Given the description of an element on the screen output the (x, y) to click on. 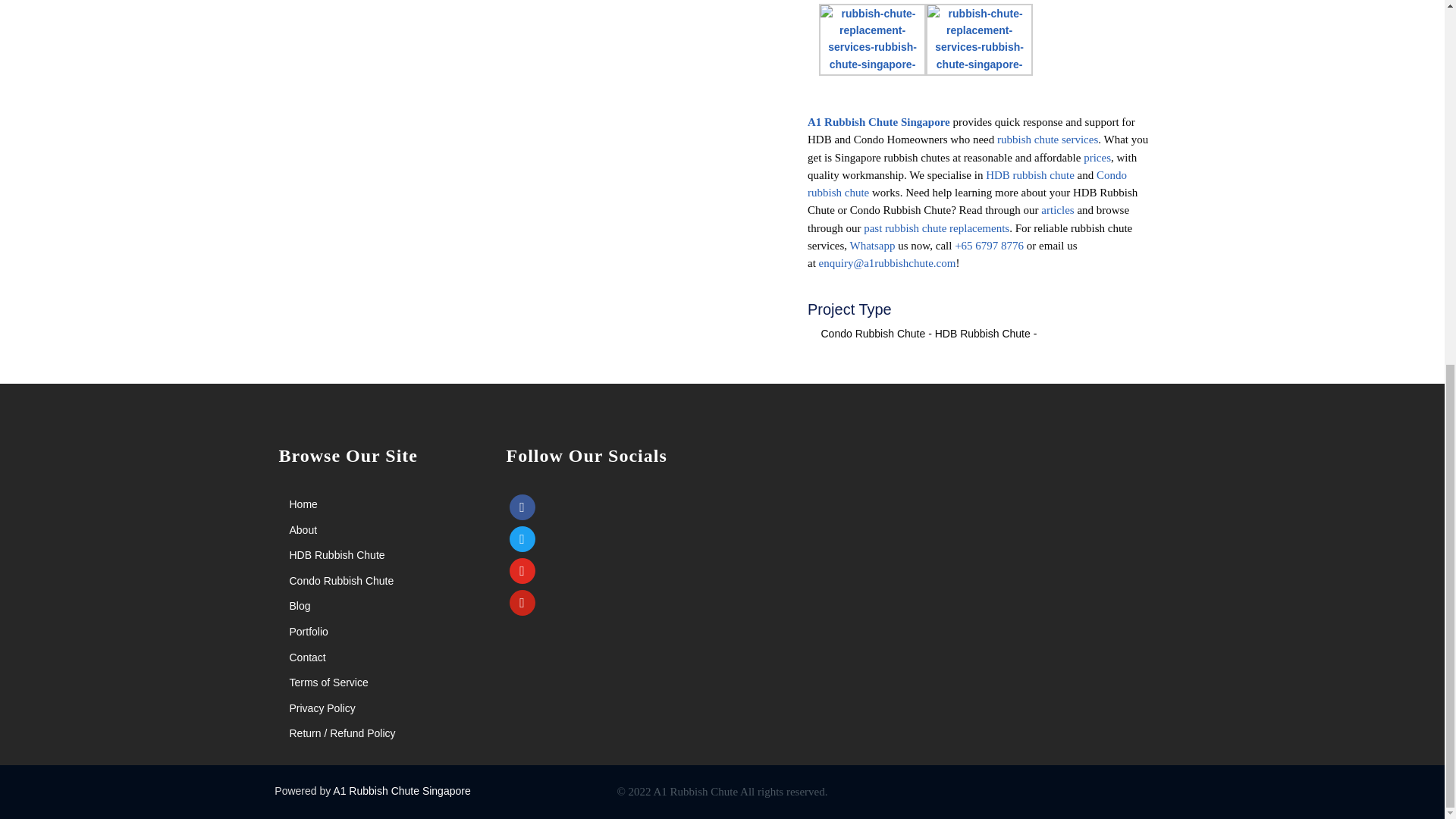
A1 Rubbish Chute Singapore (880, 121)
Facebook (522, 506)
Default Label (522, 570)
Default Label (522, 602)
Twitter (522, 538)
